Given the description of an element on the screen output the (x, y) to click on. 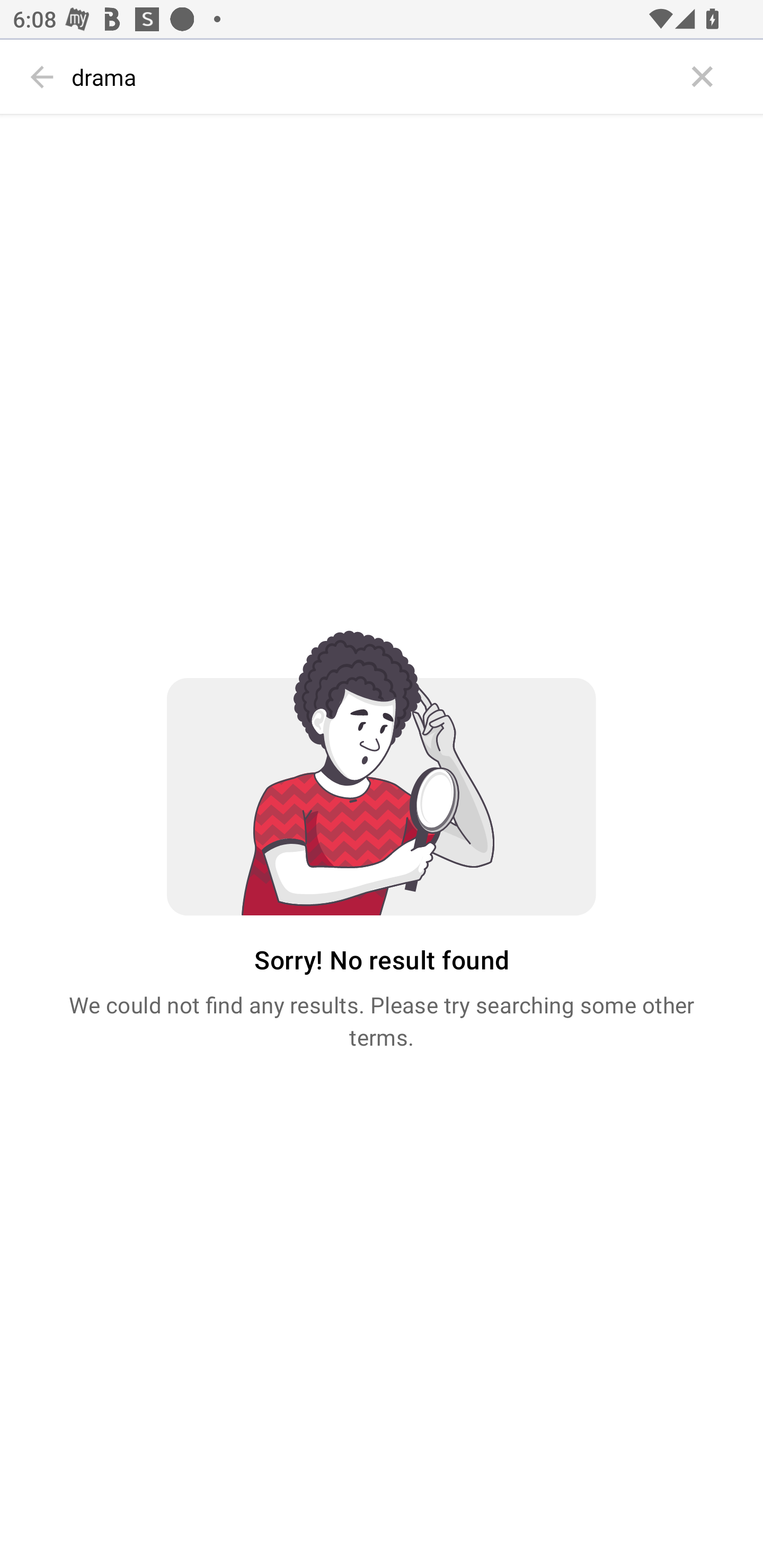
Back (42, 76)
drama (373, 76)
Close (702, 76)
